Given the description of an element on the screen output the (x, y) to click on. 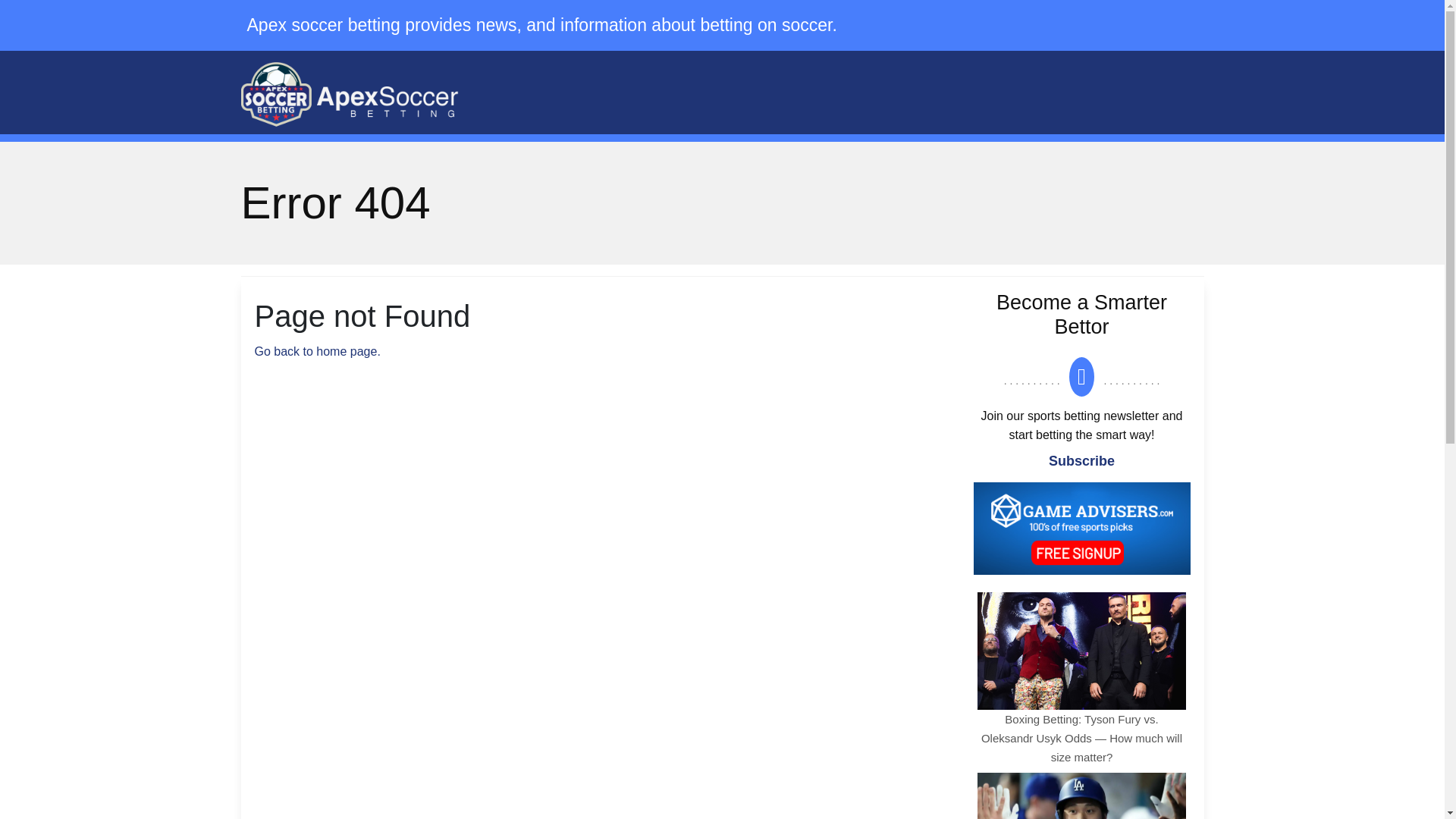
Go back to home page. (317, 350)
Subscribe (1081, 460)
